Given the description of an element on the screen output the (x, y) to click on. 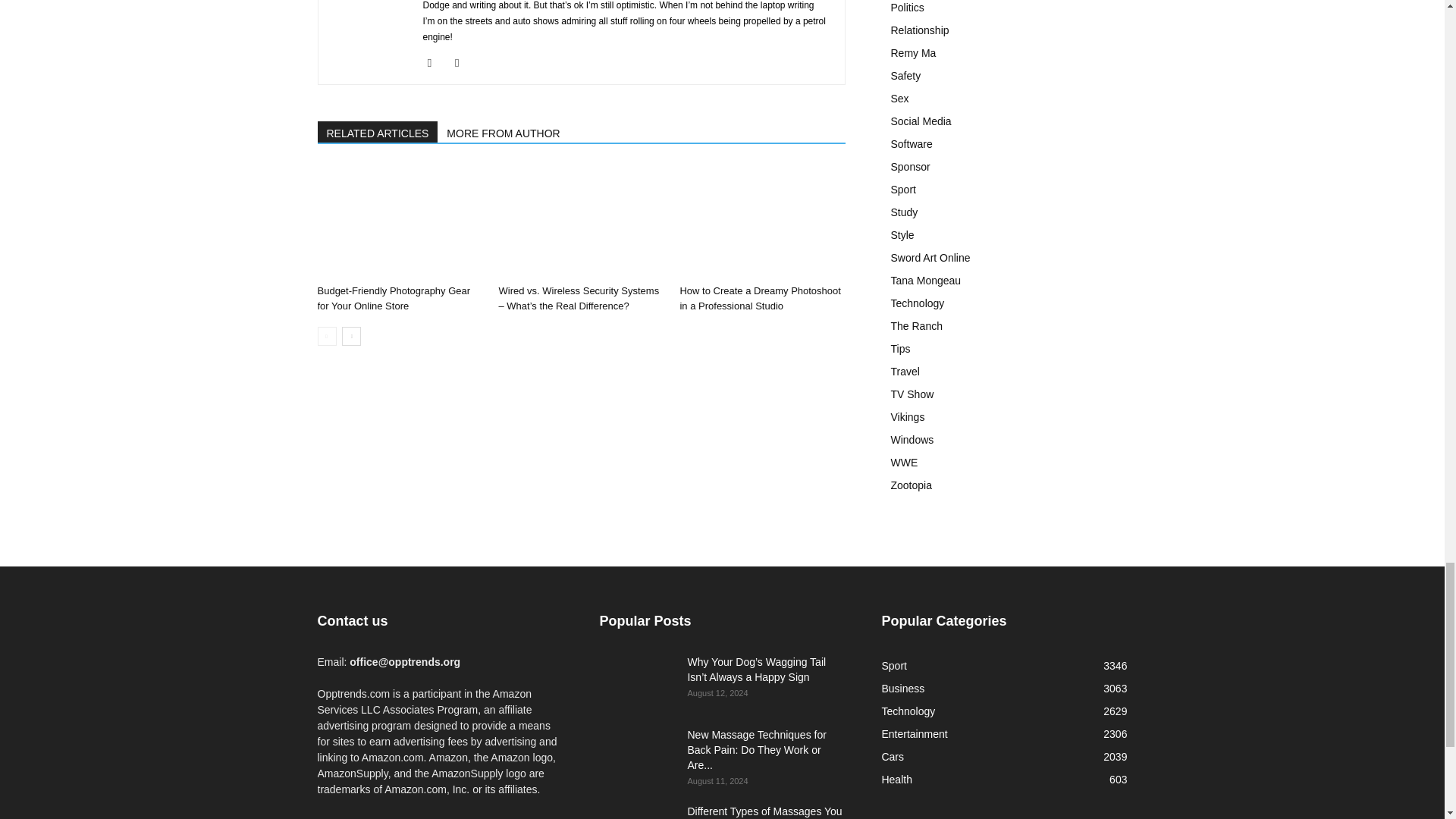
Budget-Friendly Photography Gear for Your Online Store (399, 221)
Yahoo (462, 63)
Facebook (435, 63)
Budget-Friendly Photography Gear for Your Online Store (393, 298)
